Given the description of an element on the screen output the (x, y) to click on. 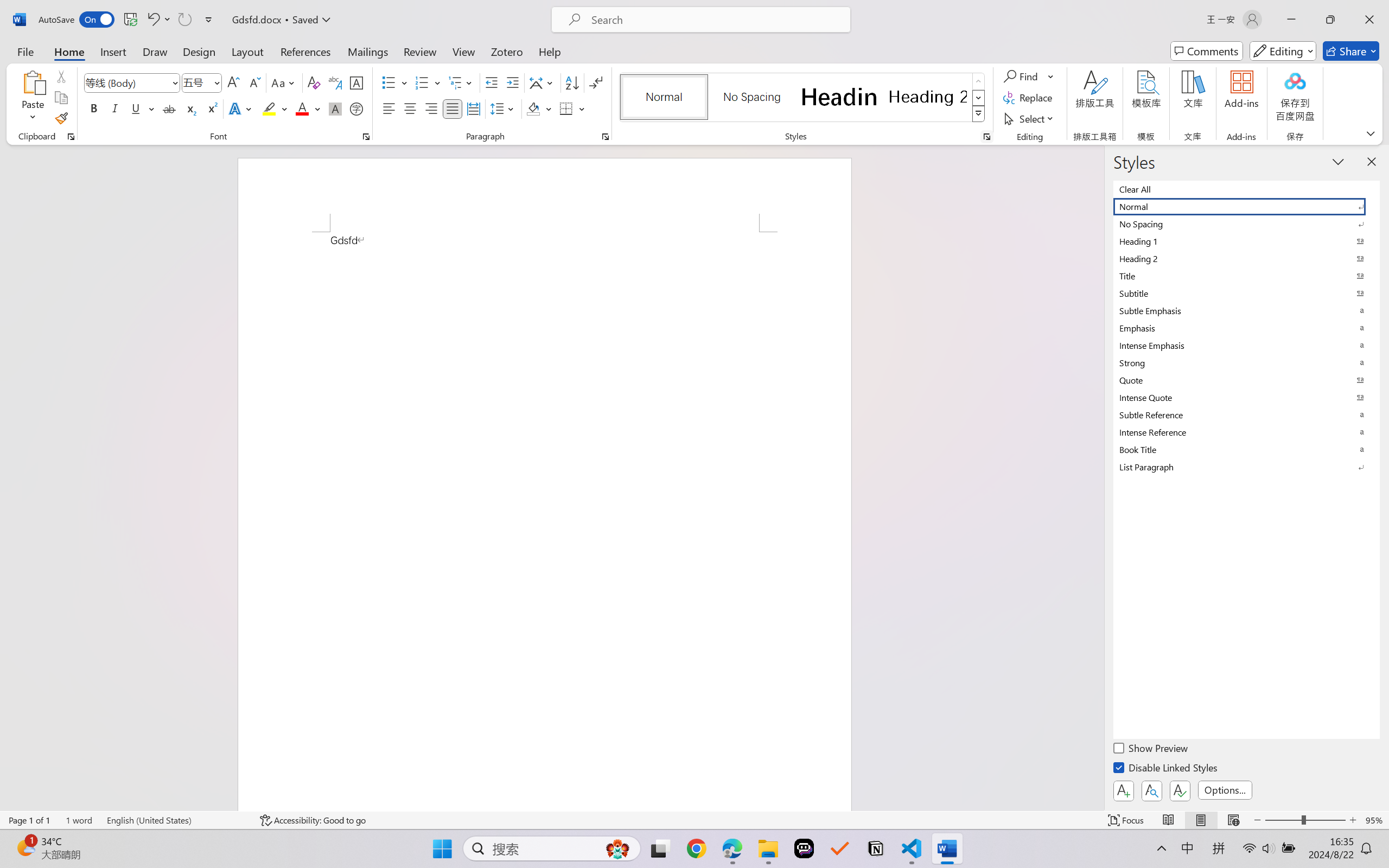
Heading 1 (839, 96)
Justify (452, 108)
Subtle Emphasis (1246, 310)
Undo AutoCorrect (158, 19)
Shrink Font (253, 82)
Undo AutoCorrect (152, 19)
Microsoft search (715, 19)
